Given the description of an element on the screen output the (x, y) to click on. 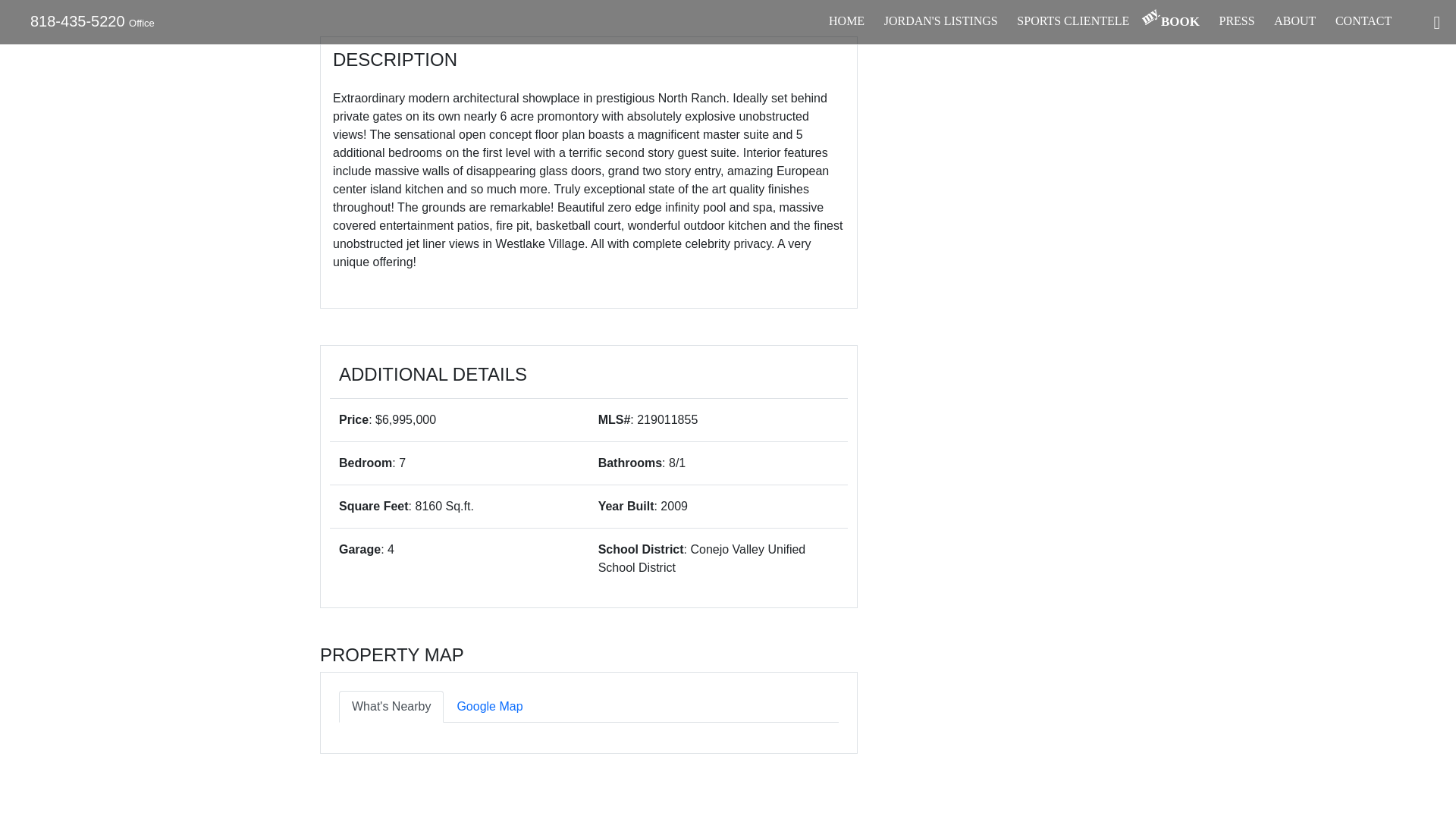
ABOUT (1295, 21)
Google Map (489, 706)
JORDAN'S LISTINGS (940, 21)
What's Nearby (391, 706)
PRESS (1235, 21)
SPORTS CLIENTELE (1072, 21)
CONTACT (1363, 21)
HOME (1173, 22)
818-435-5220 Office (846, 21)
